Given the description of an element on the screen output the (x, y) to click on. 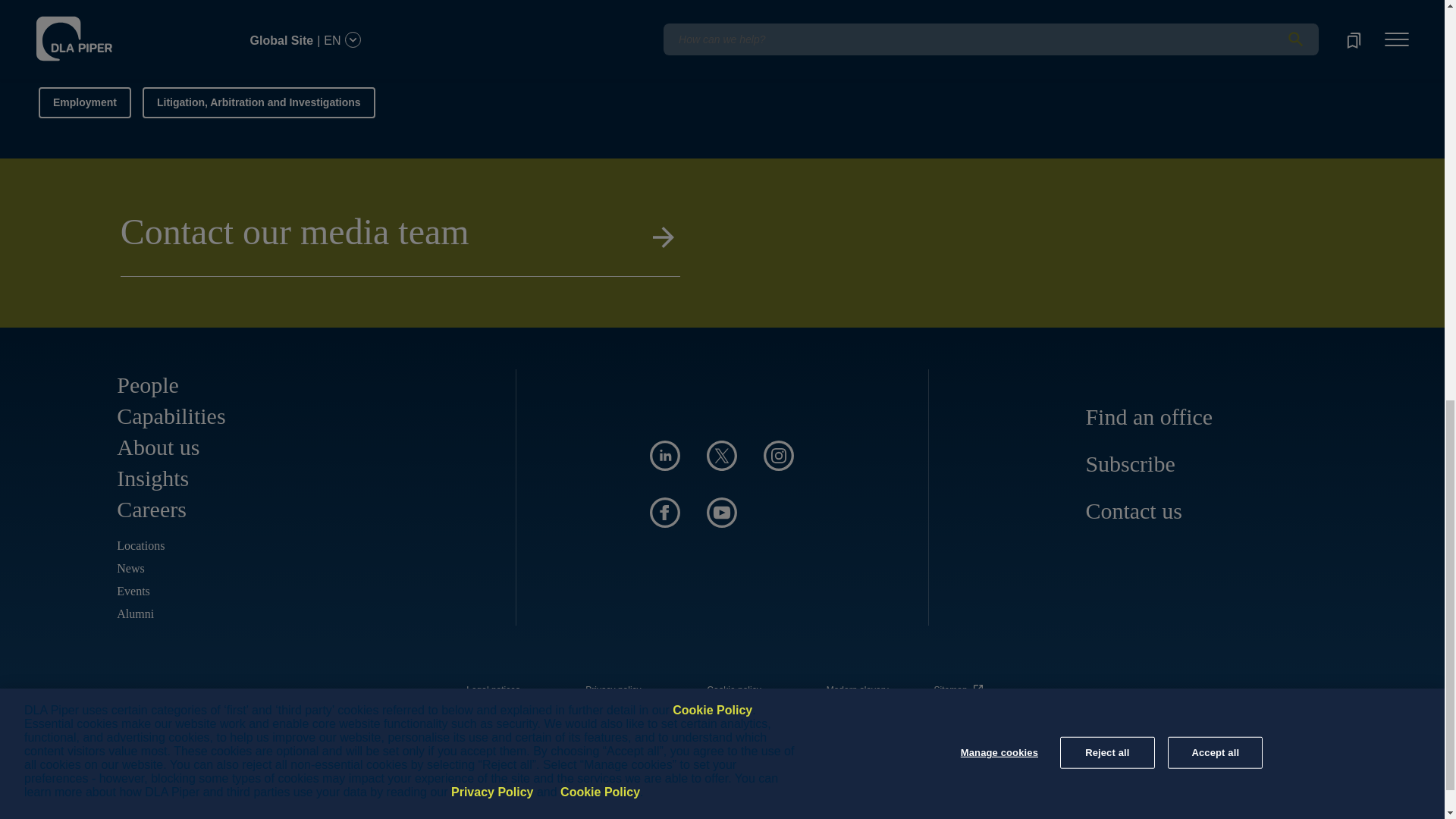
internal (493, 689)
internal (857, 689)
internal (734, 689)
external (960, 685)
internal (612, 689)
